Given the description of an element on the screen output the (x, y) to click on. 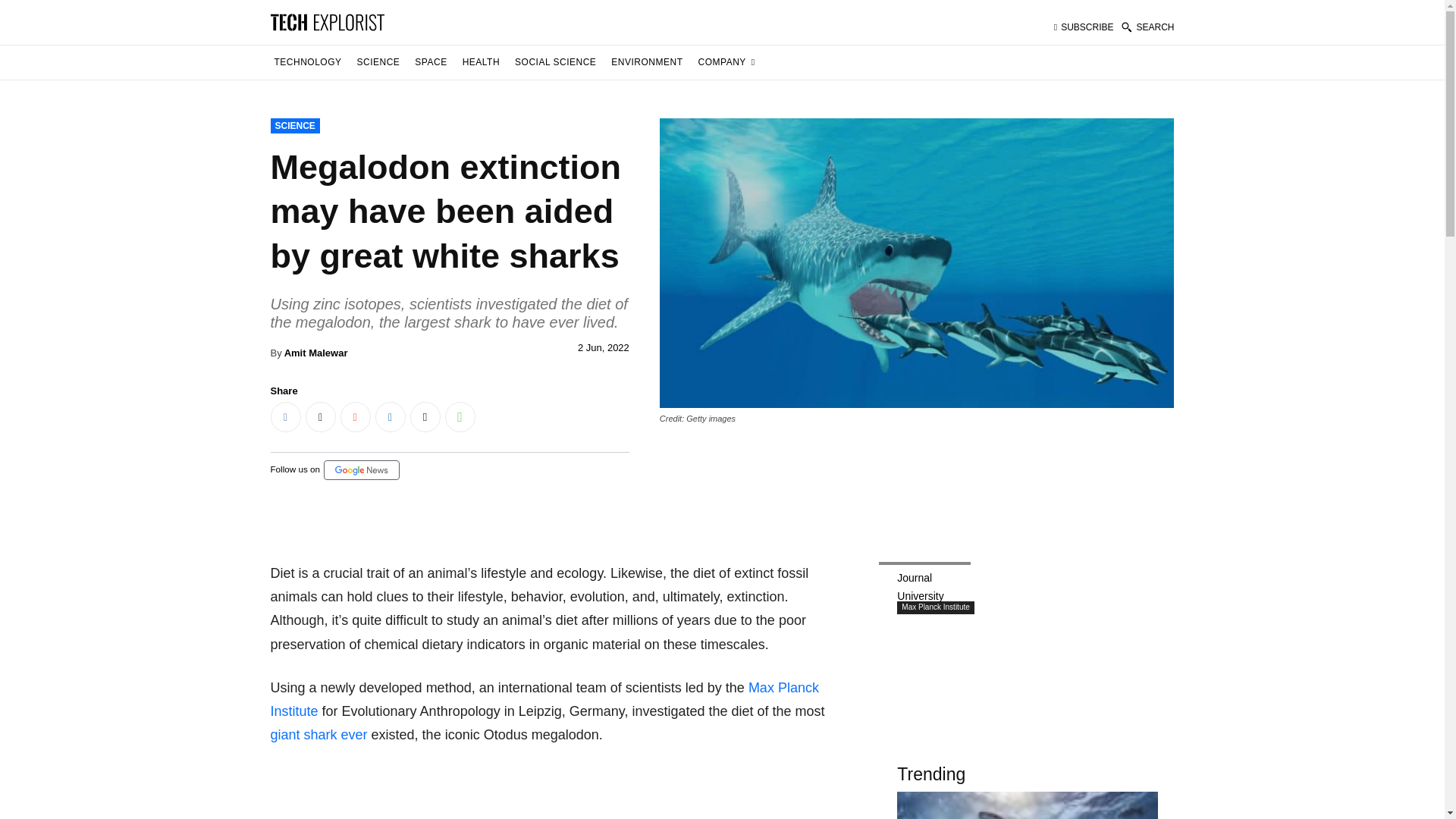
Amit Malewar (315, 352)
Max Planck Institute (543, 699)
Tech Explorist (326, 21)
SEARCH (1147, 26)
SUBSCRIBE (1083, 26)
ENVIRONMENT (646, 62)
Health (480, 62)
COMPANY (726, 62)
Technology (307, 62)
Linkedin (389, 417)
Advertisement (553, 793)
ReddIt (354, 417)
SUBSCRIBE (1083, 26)
SOCIAL SCIENCE (555, 62)
